Given the description of an element on the screen output the (x, y) to click on. 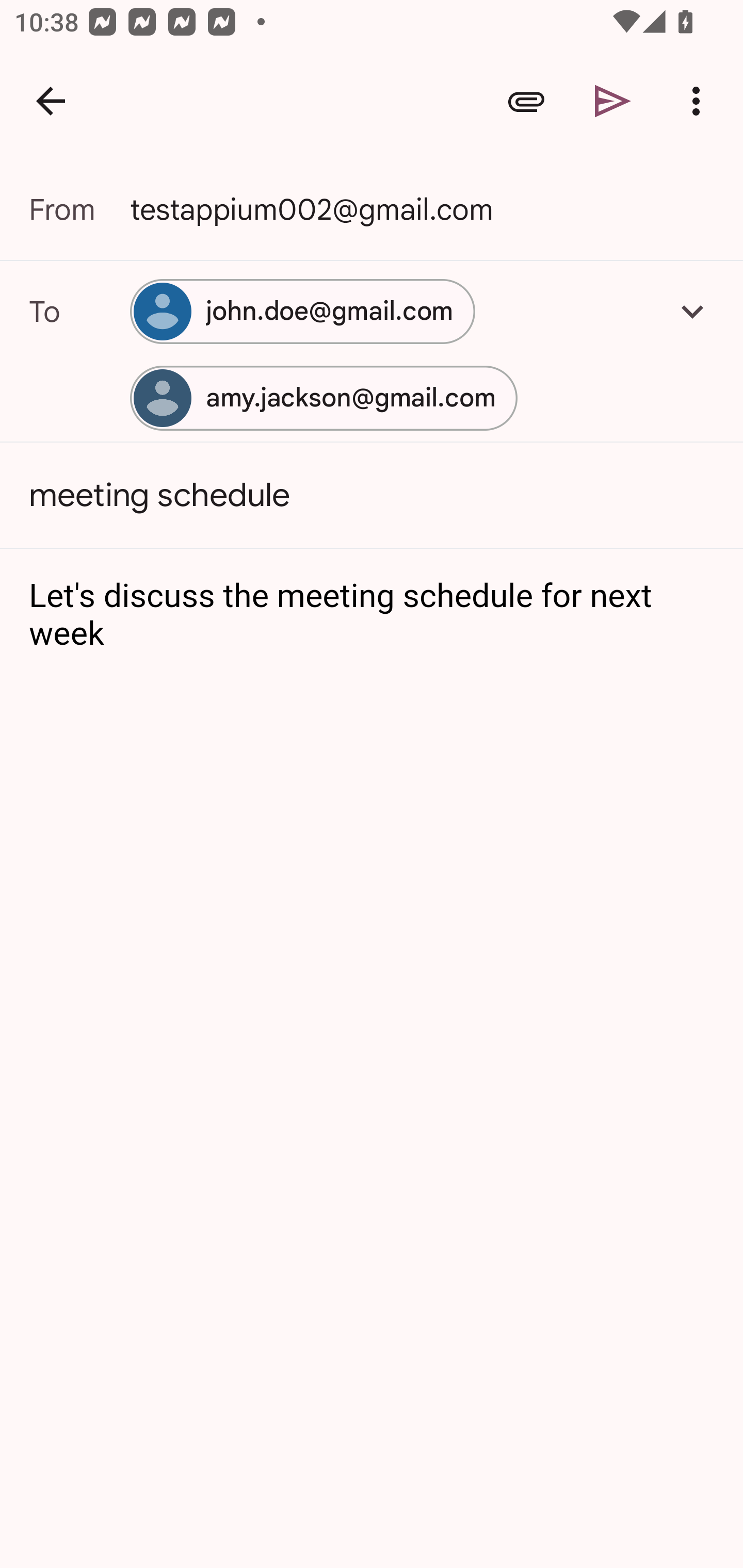
Navigate up (50, 101)
Attach file (525, 101)
Send (612, 101)
More options (699, 101)
From (79, 209)
Add Cc/Bcc (692, 311)
meeting schedule (371, 494)
Let's discuss the meeting schedule for next week (372, 615)
